Given the description of an element on the screen output the (x, y) to click on. 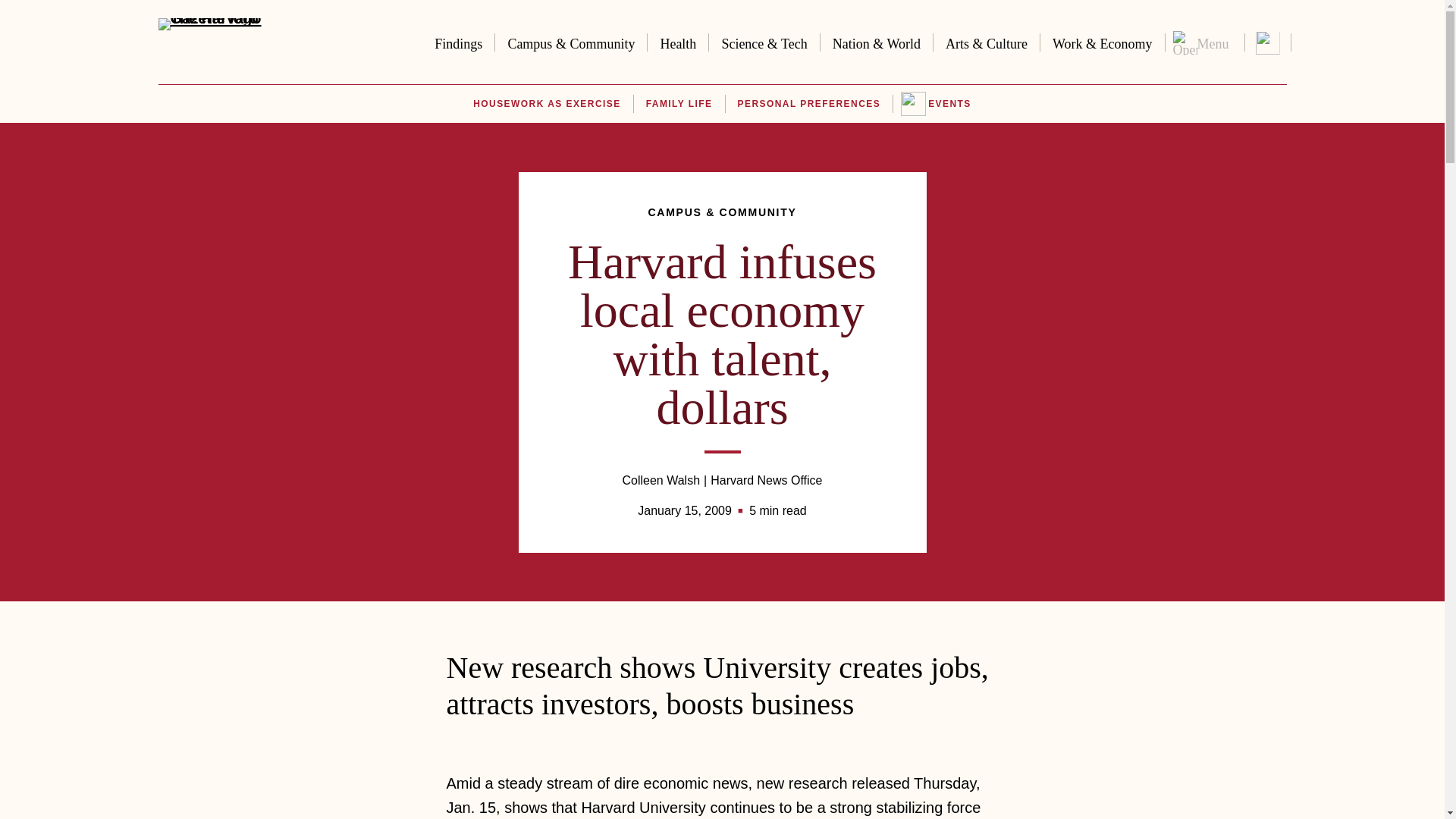
Health (677, 41)
Menu (1204, 42)
Findings (457, 41)
HOUSEWORK AS EXERCISE (546, 103)
FAMILY LIFE (679, 103)
PERSONAL PREFERENCES (809, 103)
